Given the description of an element on the screen output the (x, y) to click on. 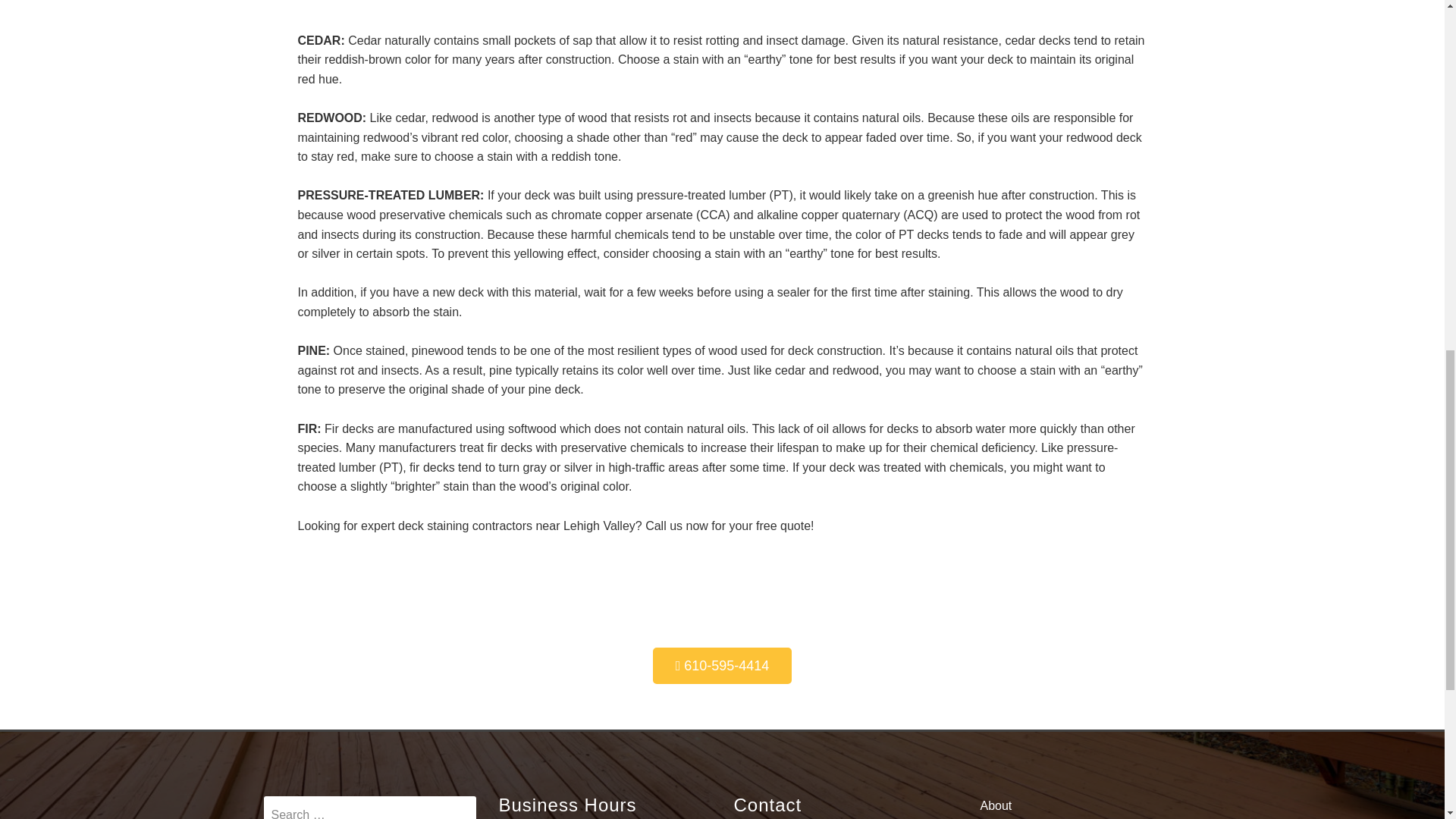
Contact (1074, 817)
Search (369, 807)
About (1074, 805)
610-595-4414 (722, 665)
